Given the description of an element on the screen output the (x, y) to click on. 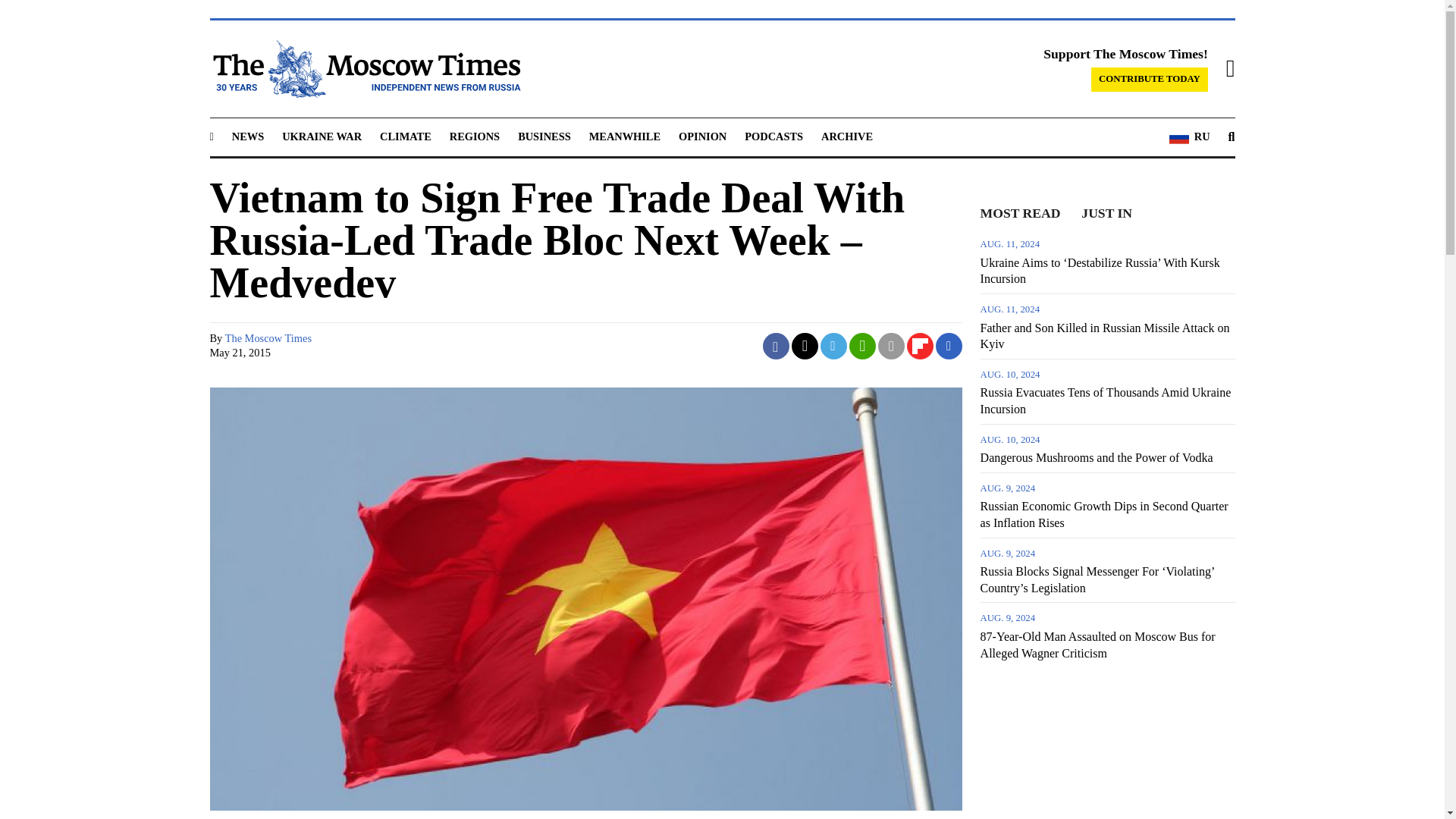
The Moscow Times (268, 337)
Share on Twitter (805, 345)
ARCHIVE (846, 136)
CONTRIBUTE TODAY (1149, 79)
Share on Telegram (834, 345)
REGIONS (474, 136)
RU (1189, 137)
UKRAINE WAR (321, 136)
CLIMATE (405, 136)
Share on Facebook (775, 345)
